Given the description of an element on the screen output the (x, y) to click on. 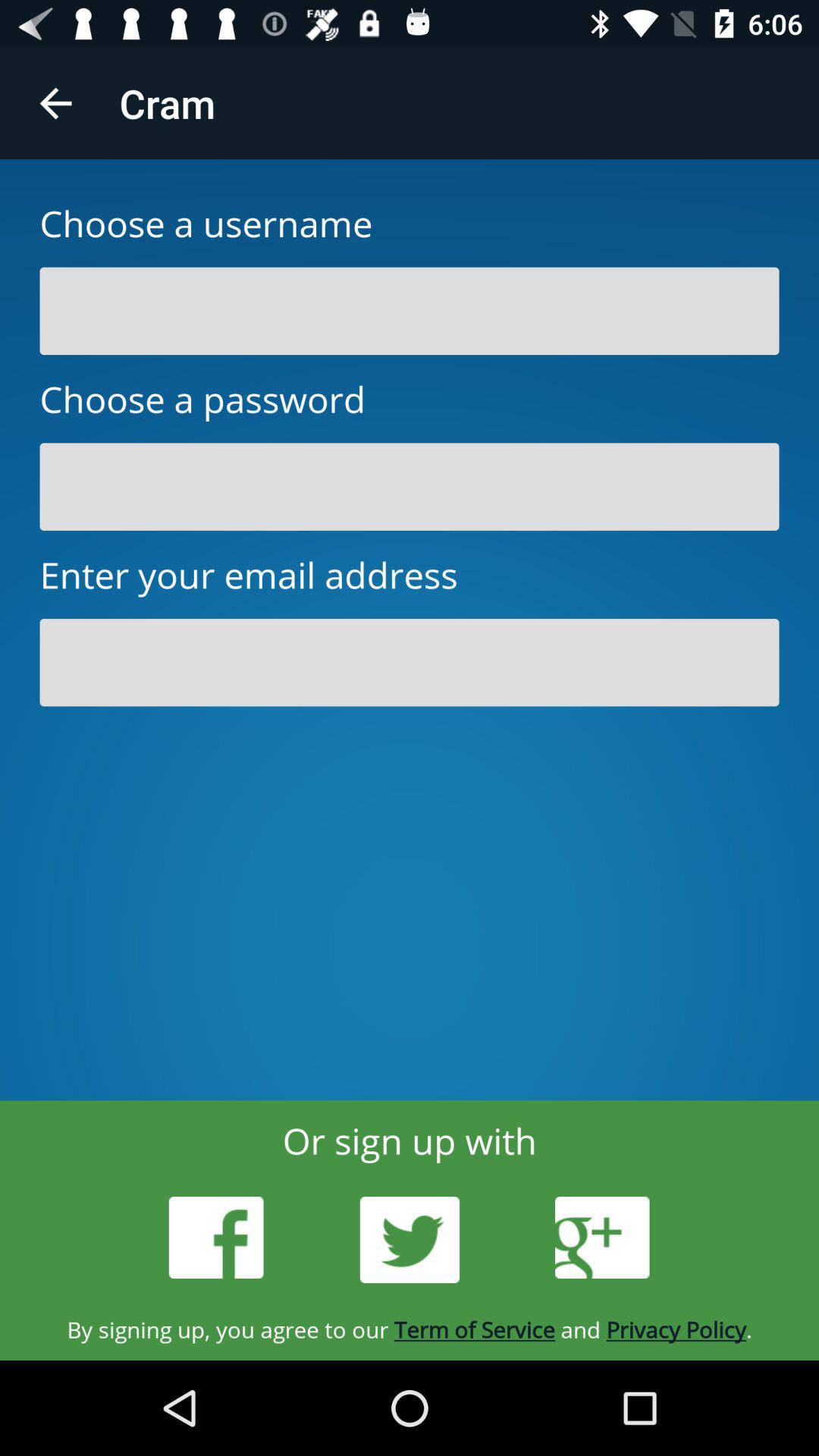
name yourself (409, 310)
